Given the description of an element on the screen output the (x, y) to click on. 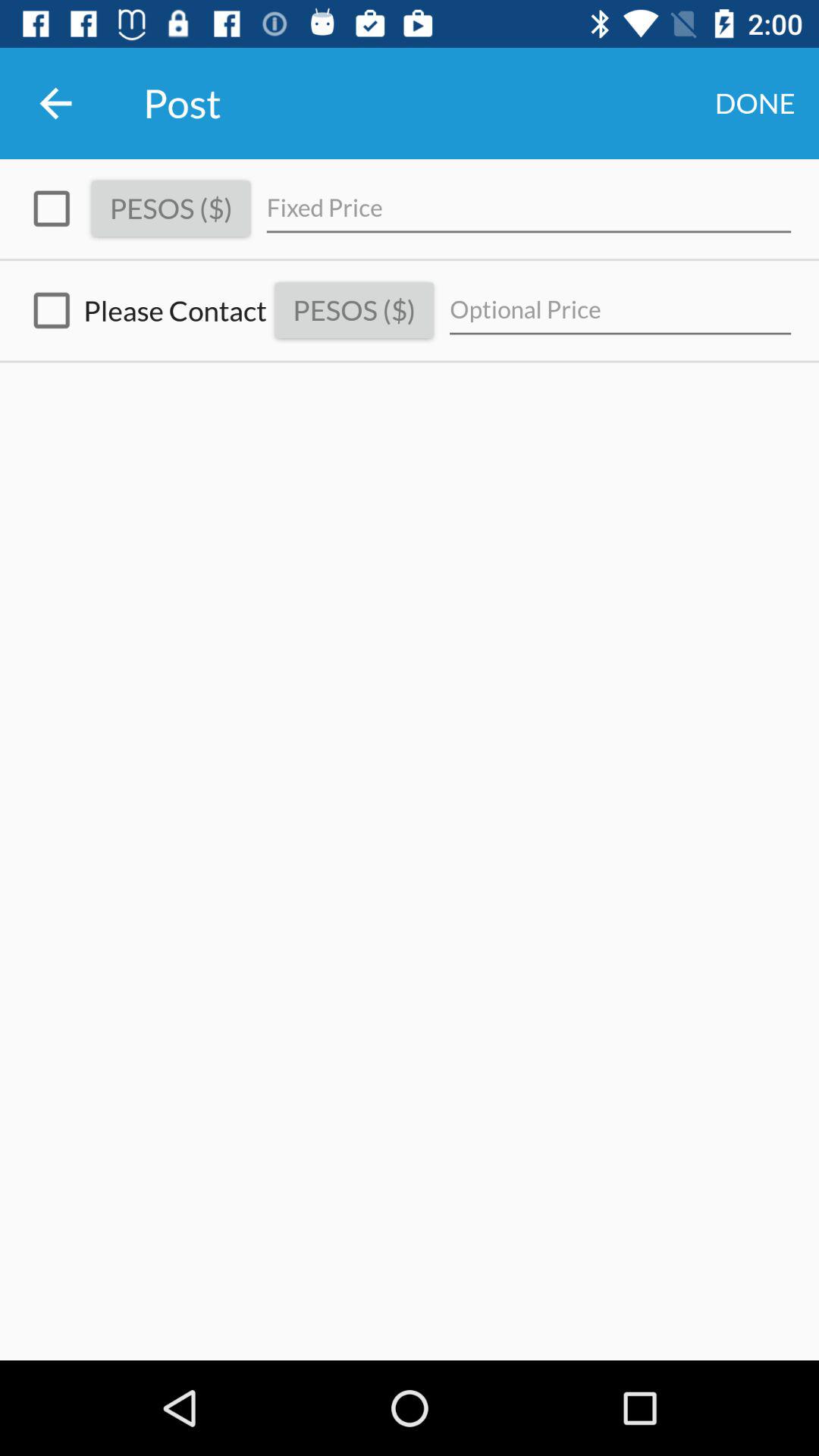
tap the item next to pesos ($) item (142, 310)
